Given the description of an element on the screen output the (x, y) to click on. 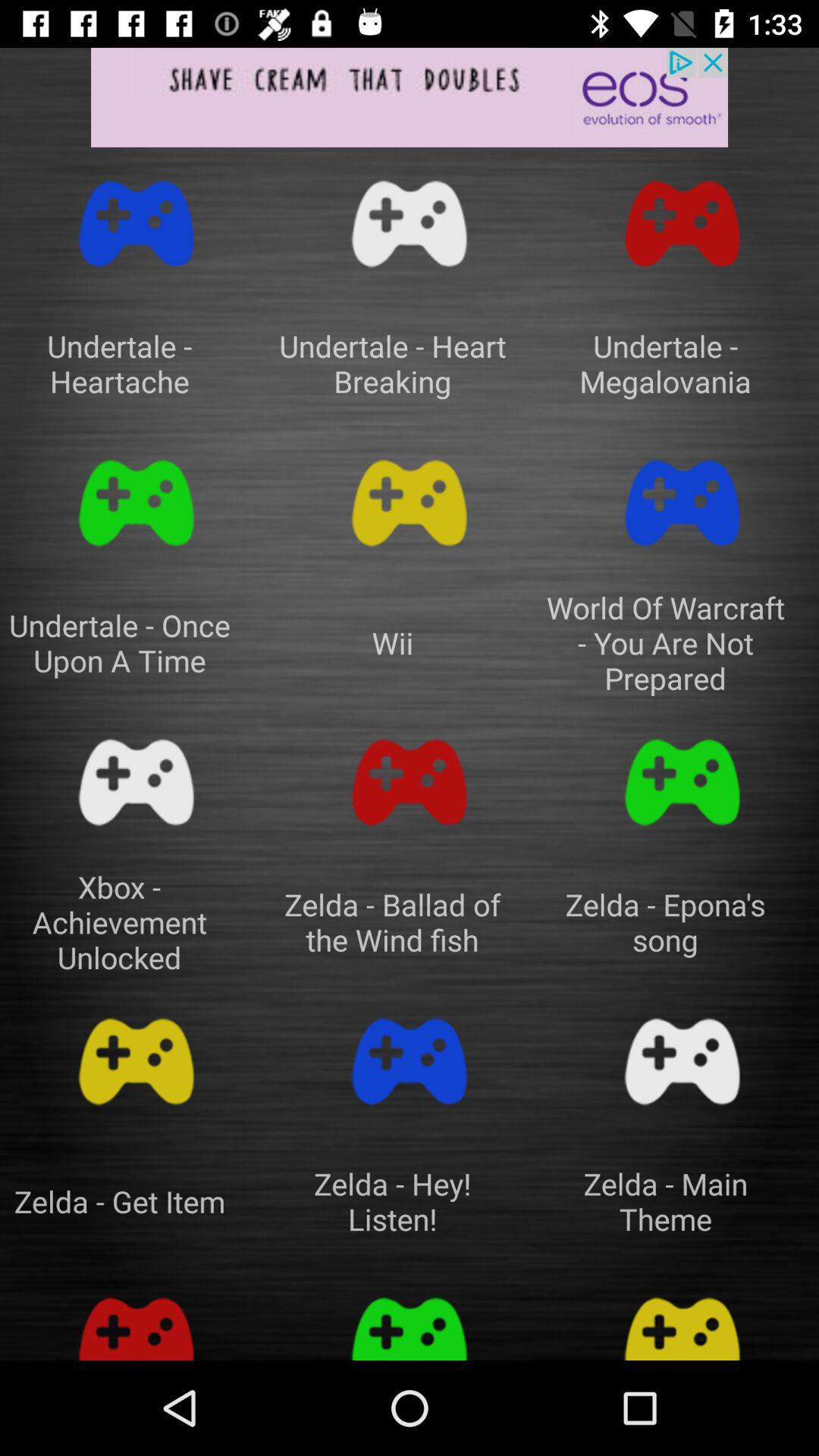
game (409, 223)
